Given the description of an element on the screen output the (x, y) to click on. 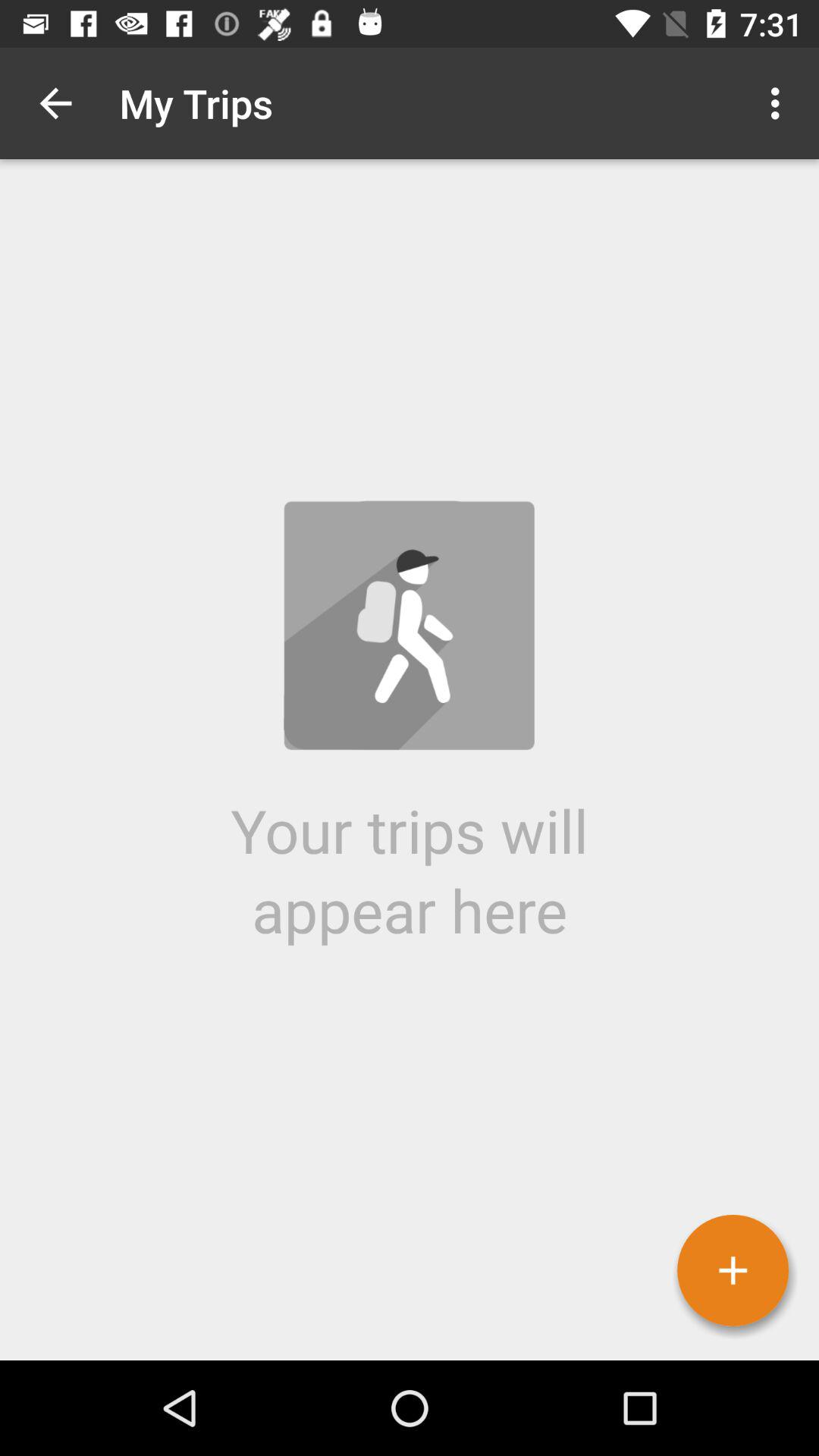
click the icon at the top right corner (779, 103)
